Given the description of an element on the screen output the (x, y) to click on. 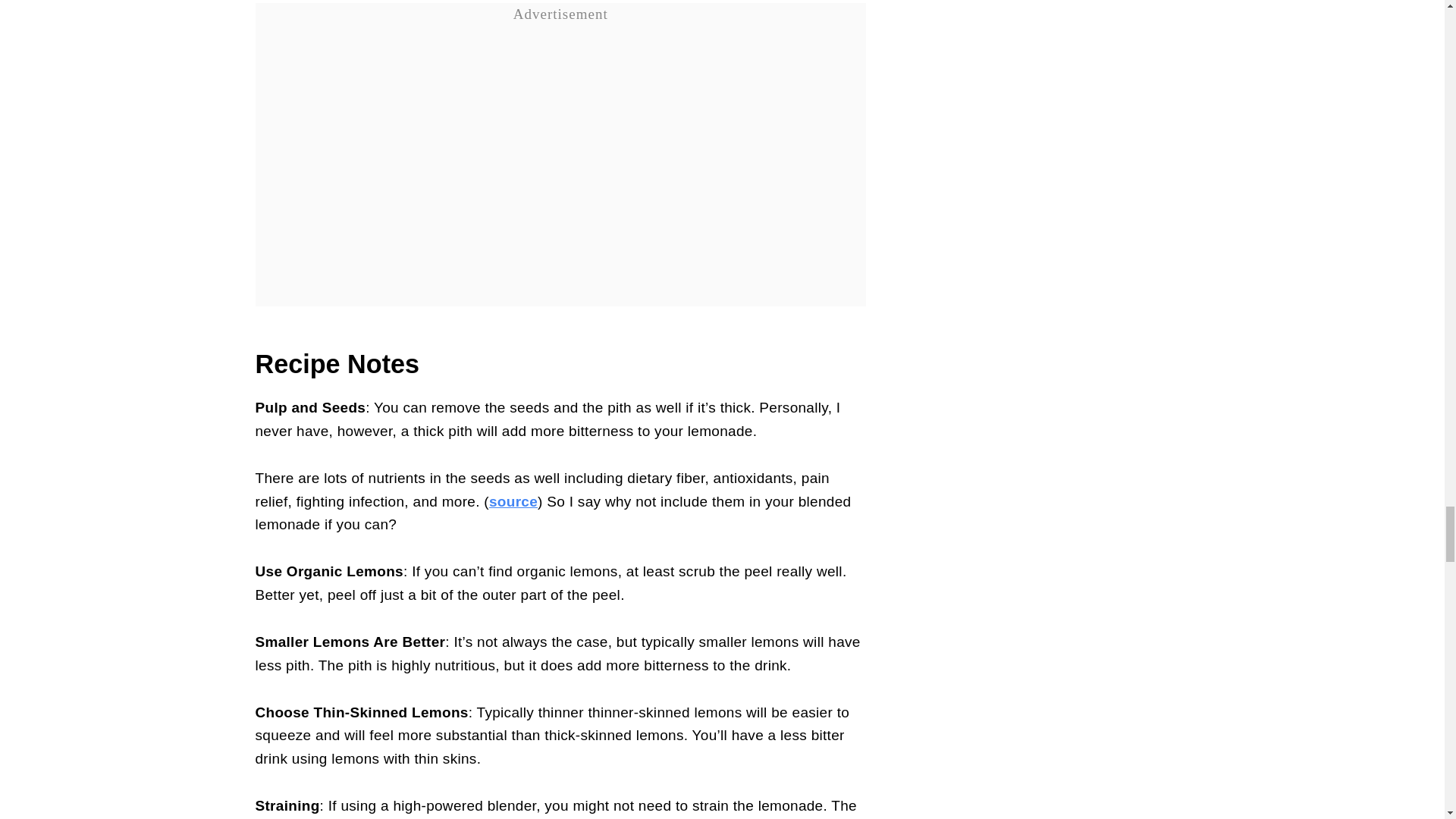
source (513, 501)
